Given the description of an element on the screen output the (x, y) to click on. 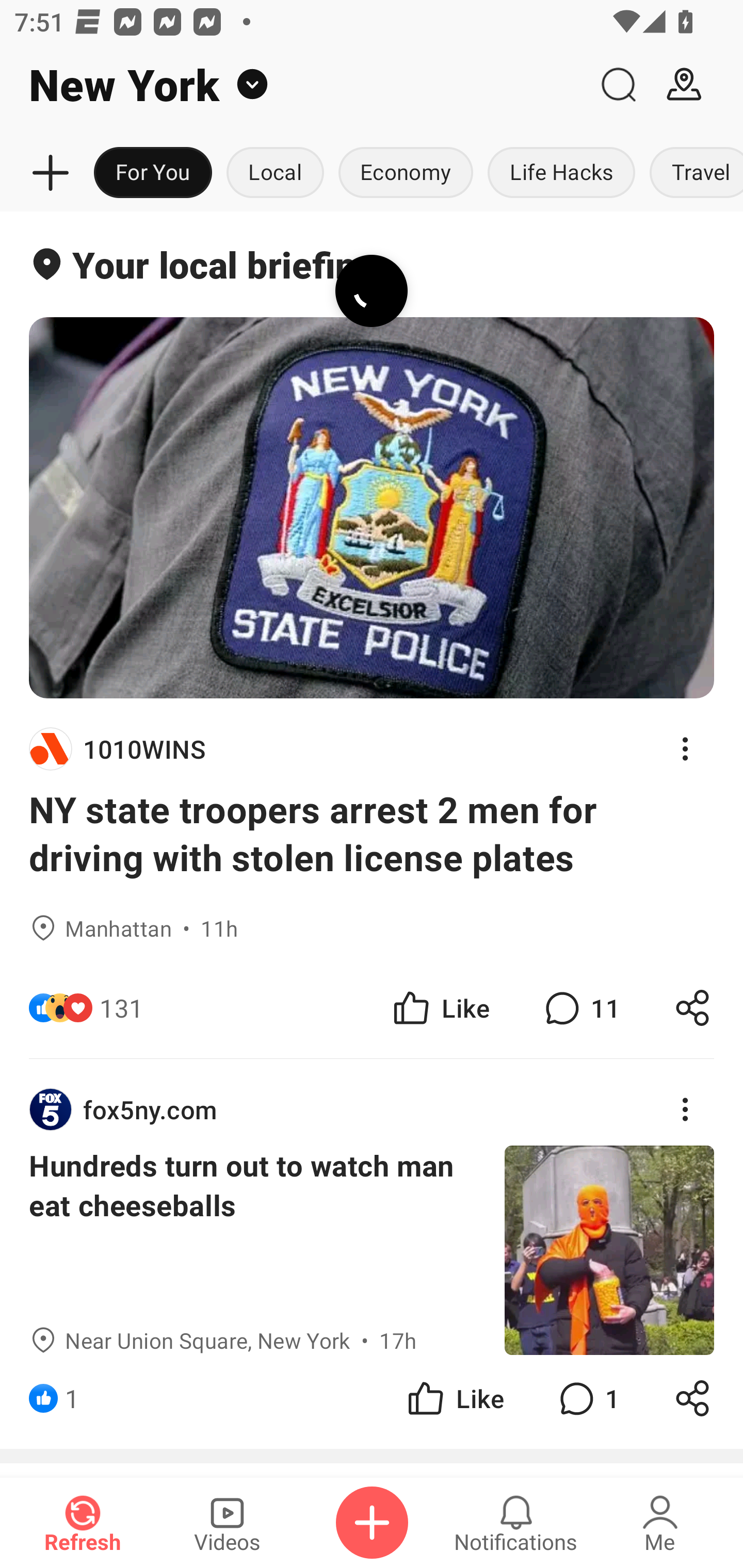
New York (292, 84)
For You (152, 172)
Local (275, 172)
Economy (405, 172)
Life Hacks (561, 172)
Travel (692, 172)
131 (121, 1007)
Like (439, 1007)
11 (579, 1007)
1 (72, 1397)
Like (454, 1397)
1 (587, 1397)
Videos (227, 1522)
Notifications (516, 1522)
Me (659, 1522)
